Given the description of an element on the screen output the (x, y) to click on. 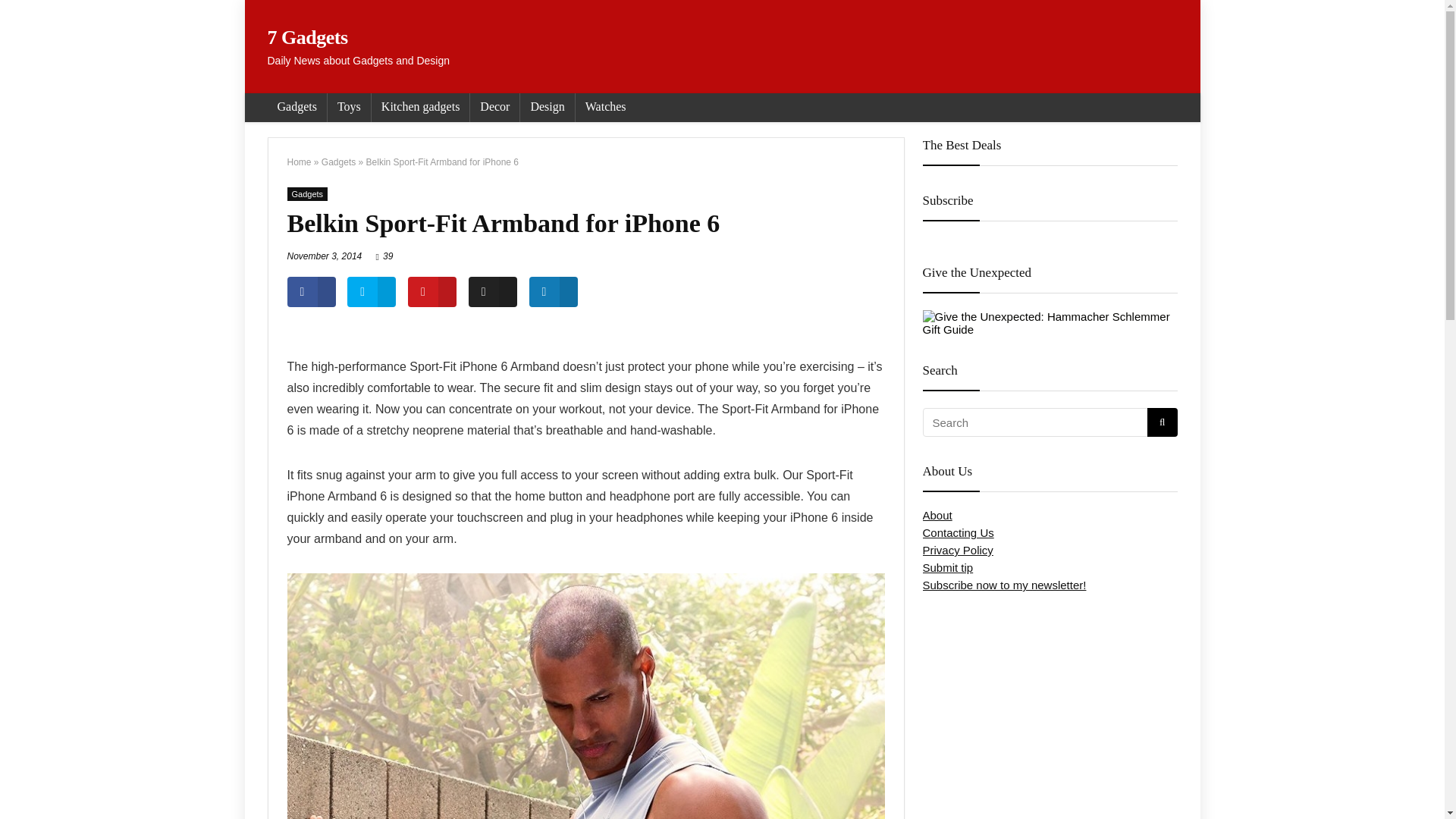
Privacy Policy (956, 549)
Kitchen gadgets (420, 107)
Contacting Us (956, 532)
Gadgets (296, 107)
Gadgets (338, 162)
About (936, 514)
Watches (605, 107)
Design (546, 107)
View all posts in Gadgets (306, 193)
Toys (349, 107)
Home (298, 162)
Gadgets (306, 193)
Decor (494, 107)
